Given the description of an element on the screen output the (x, y) to click on. 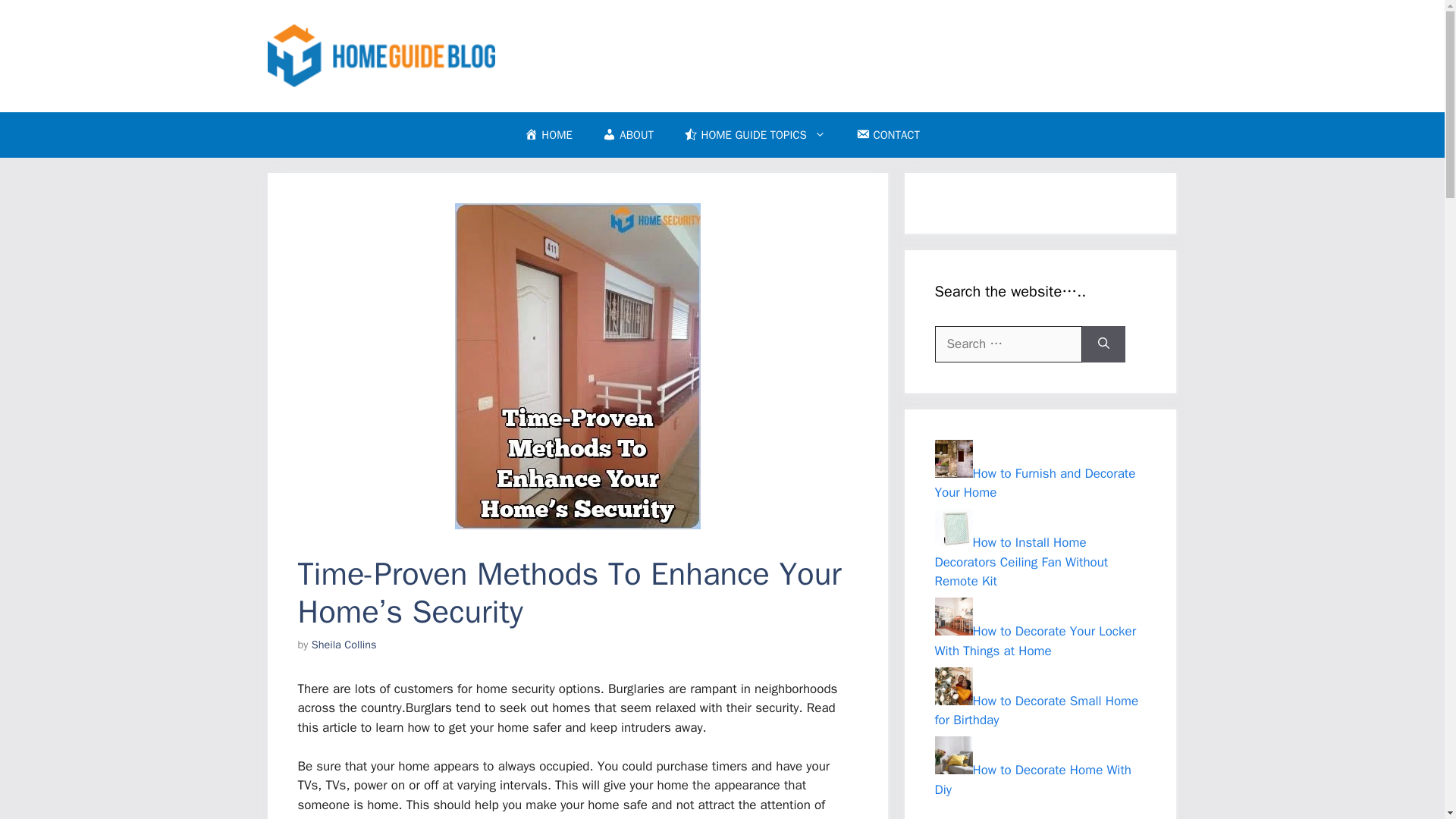
Search for: (1007, 343)
HOME GUIDE TOPICS (754, 135)
ABOUT (628, 135)
CONTACT (887, 135)
How to Furnish and Decorate Your Home 4 (953, 458)
Sheila Collins (344, 644)
HOME (548, 135)
View all posts by Sheila Collins (344, 644)
